Given the description of an element on the screen output the (x, y) to click on. 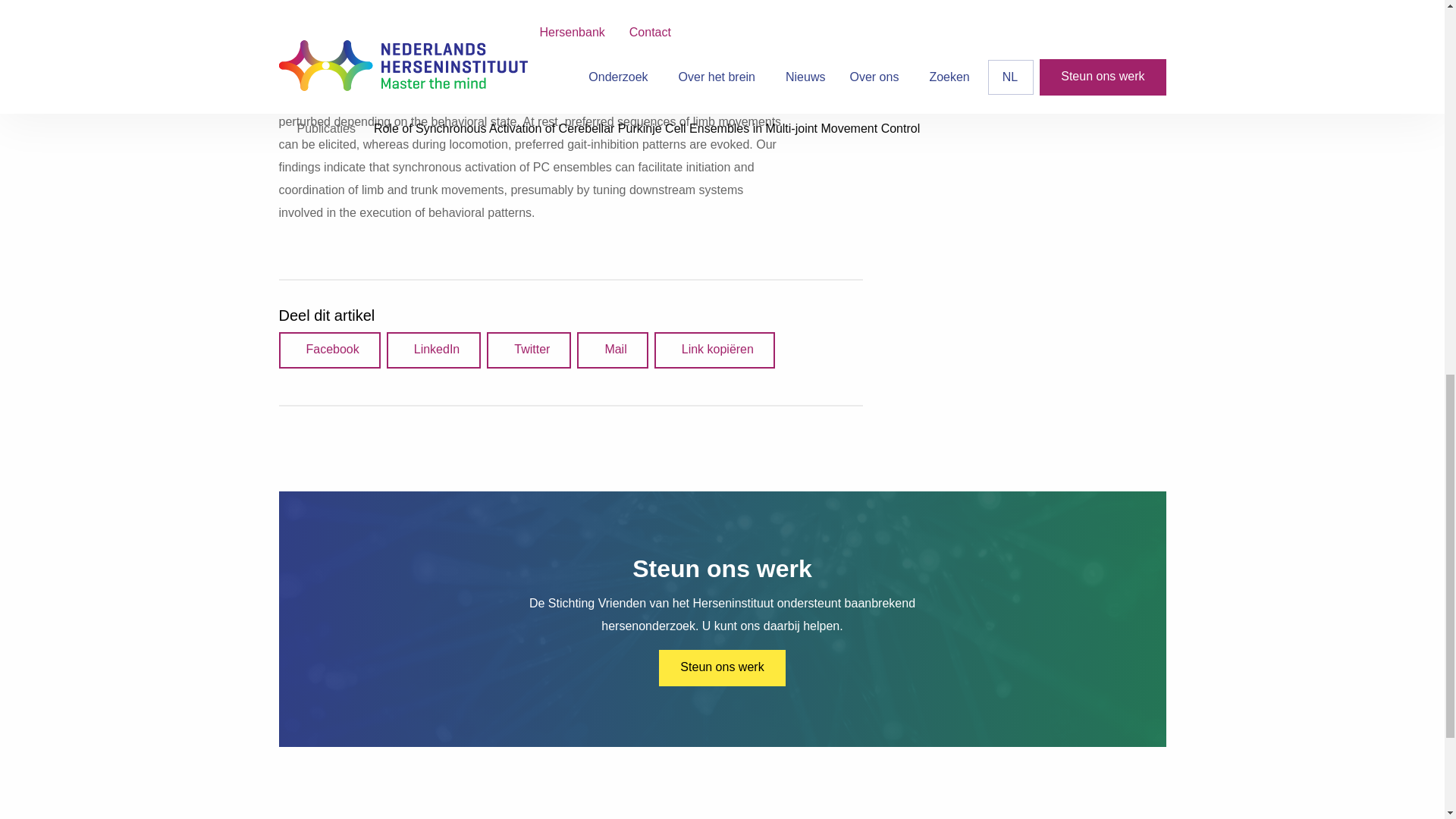
Share link (713, 350)
Share via mail (611, 350)
Tweet (528, 350)
Share on Facebook (329, 350)
Share on LinkedIn (434, 350)
